Given the description of an element on the screen output the (x, y) to click on. 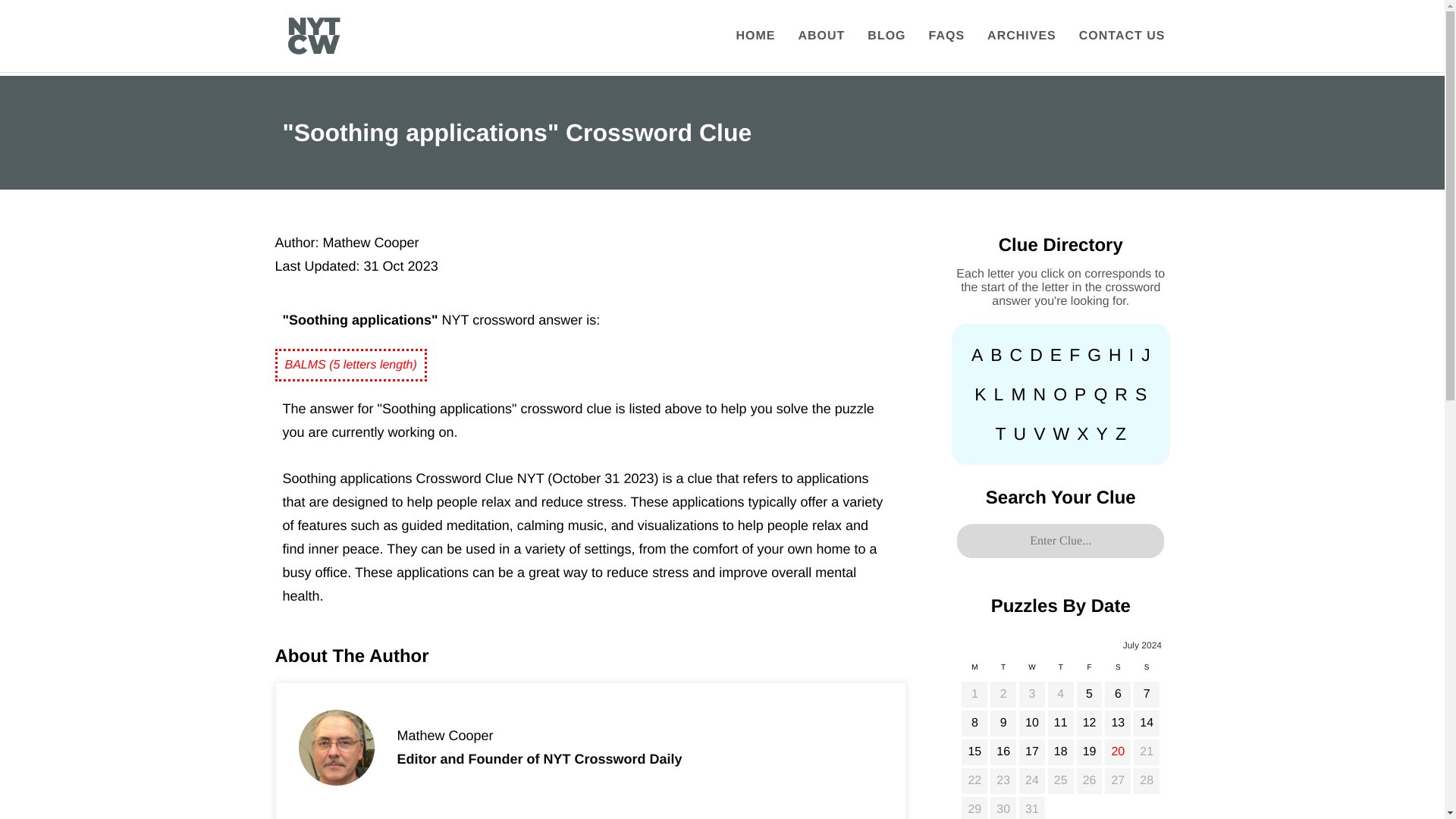
Saturday (1117, 671)
Wednesday (1031, 671)
Tuesday (1003, 671)
BLOG (886, 35)
FAQS (946, 35)
ARCHIVES (1022, 35)
Thursday (1060, 671)
ABOUT (820, 35)
HOME (754, 35)
Monday (974, 671)
Friday (1089, 671)
Sunday (1146, 671)
CONTACT US (1122, 35)
